Given the description of an element on the screen output the (x, y) to click on. 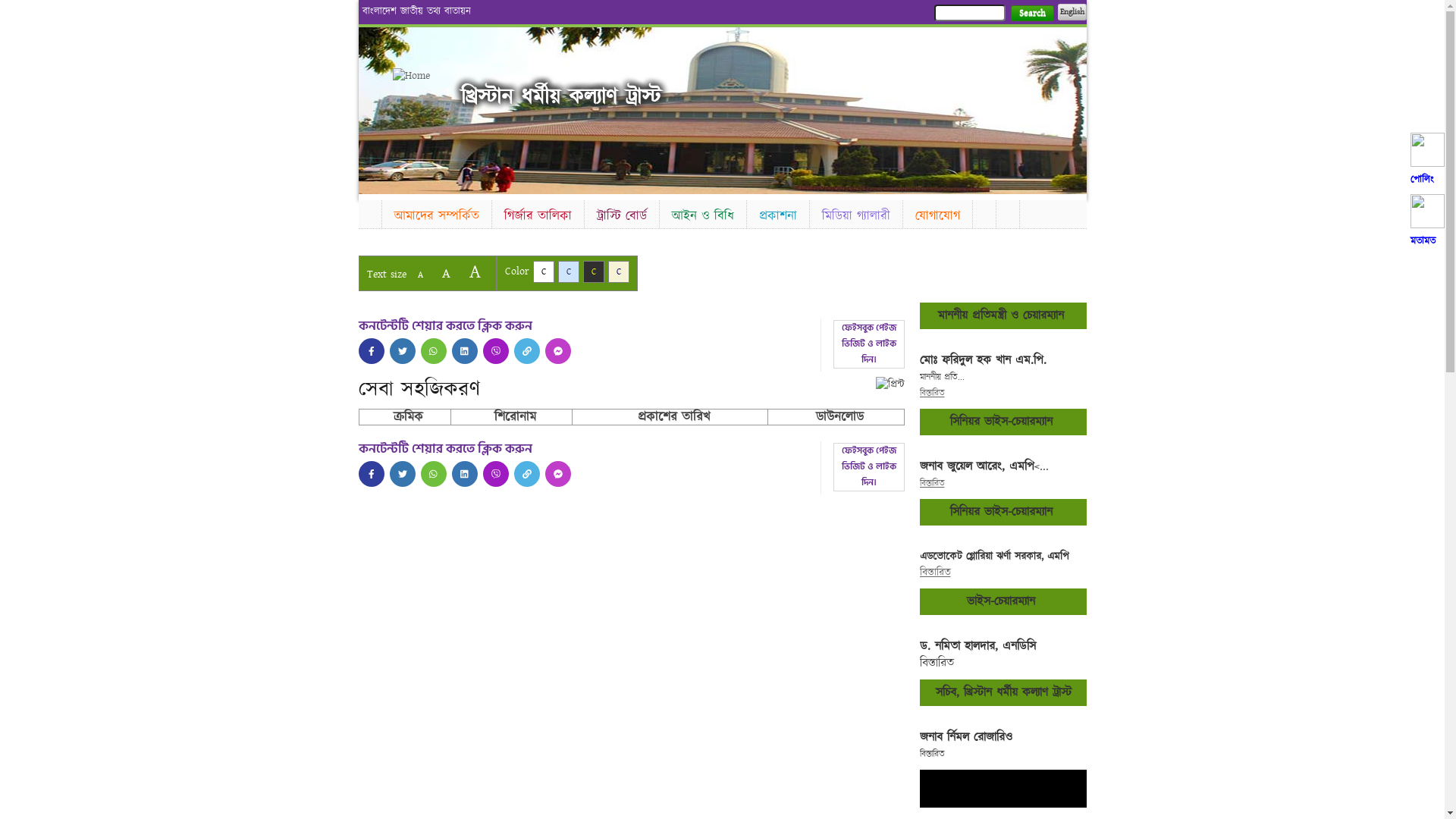
Home Element type: hover (368, 211)
English Element type: text (1071, 11)
A Element type: text (445, 273)
A Element type: text (474, 271)
C Element type: text (568, 271)
C Element type: text (542, 271)
Search Element type: text (1031, 13)
A Element type: text (419, 274)
C Element type: text (592, 271)
C Element type: text (618, 271)
Home Element type: hover (418, 76)
